Given the description of an element on the screen output the (x, y) to click on. 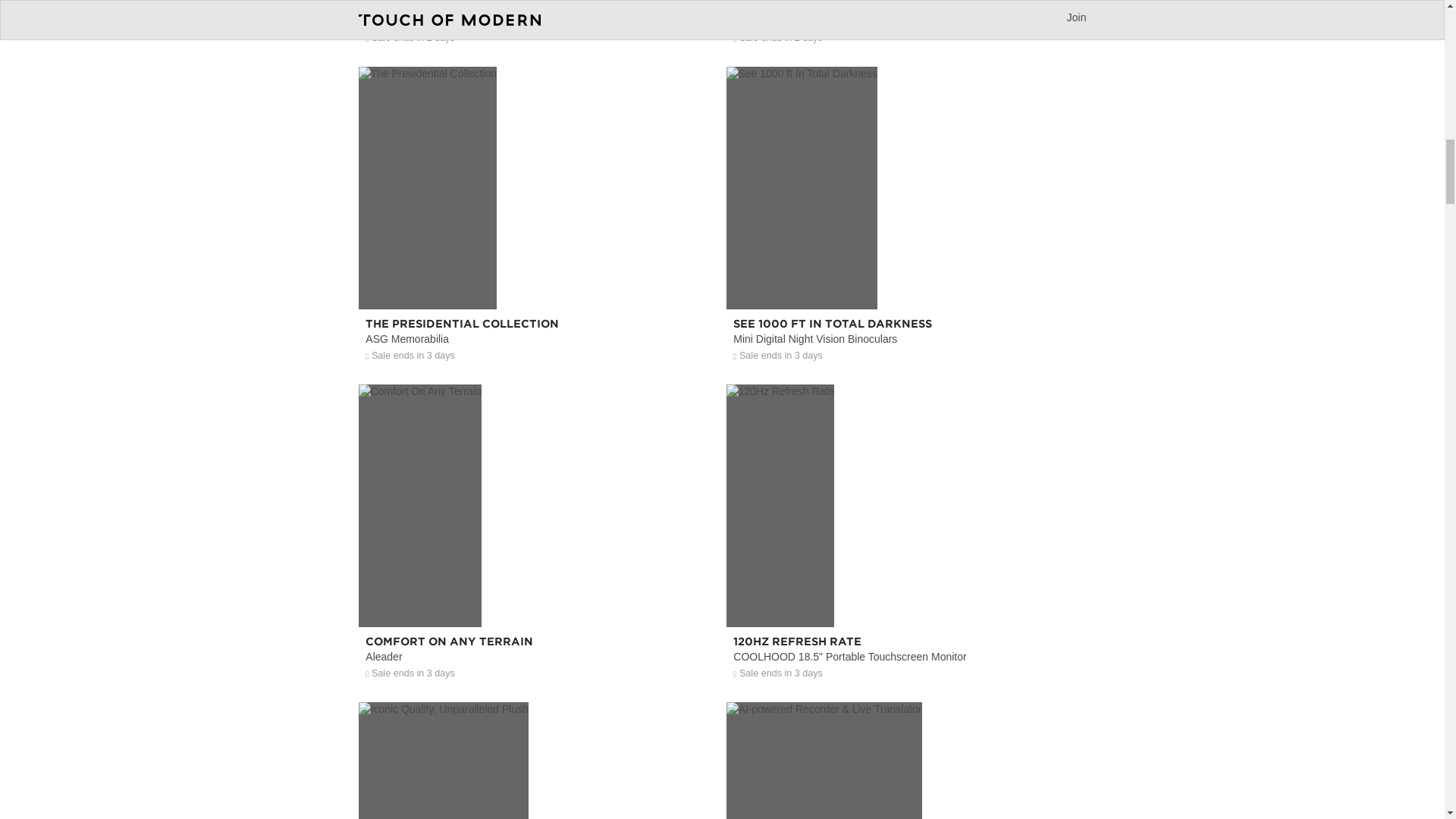
The Presidential Collection  (537, 276)
The New Fountain Of Youth (537, 27)
Comfort On Any Terrain (537, 594)
See 1000 ft In Total Darkness (906, 276)
120Hz Refresh Rate (906, 594)
Make Out Like A Bandit. (906, 27)
